Given the description of an element on the screen output the (x, y) to click on. 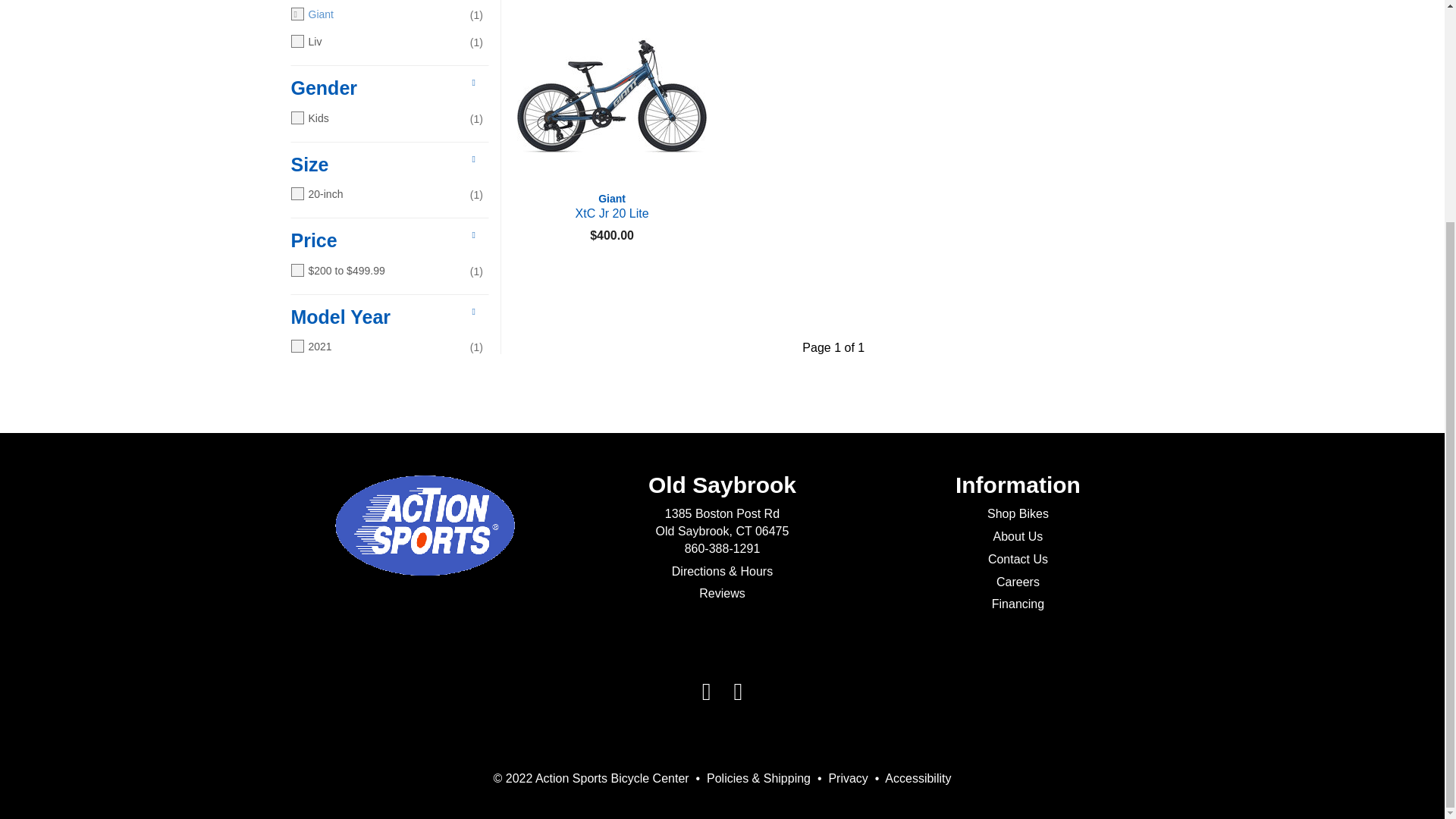
Gender (384, 88)
Price (384, 240)
Model Year (384, 317)
Giant XtC Jr 20 Lite (611, 205)
Size (384, 165)
Giant XtC Jr 20 Lite (611, 95)
Brands (611, 205)
